Given the description of an element on the screen output the (x, y) to click on. 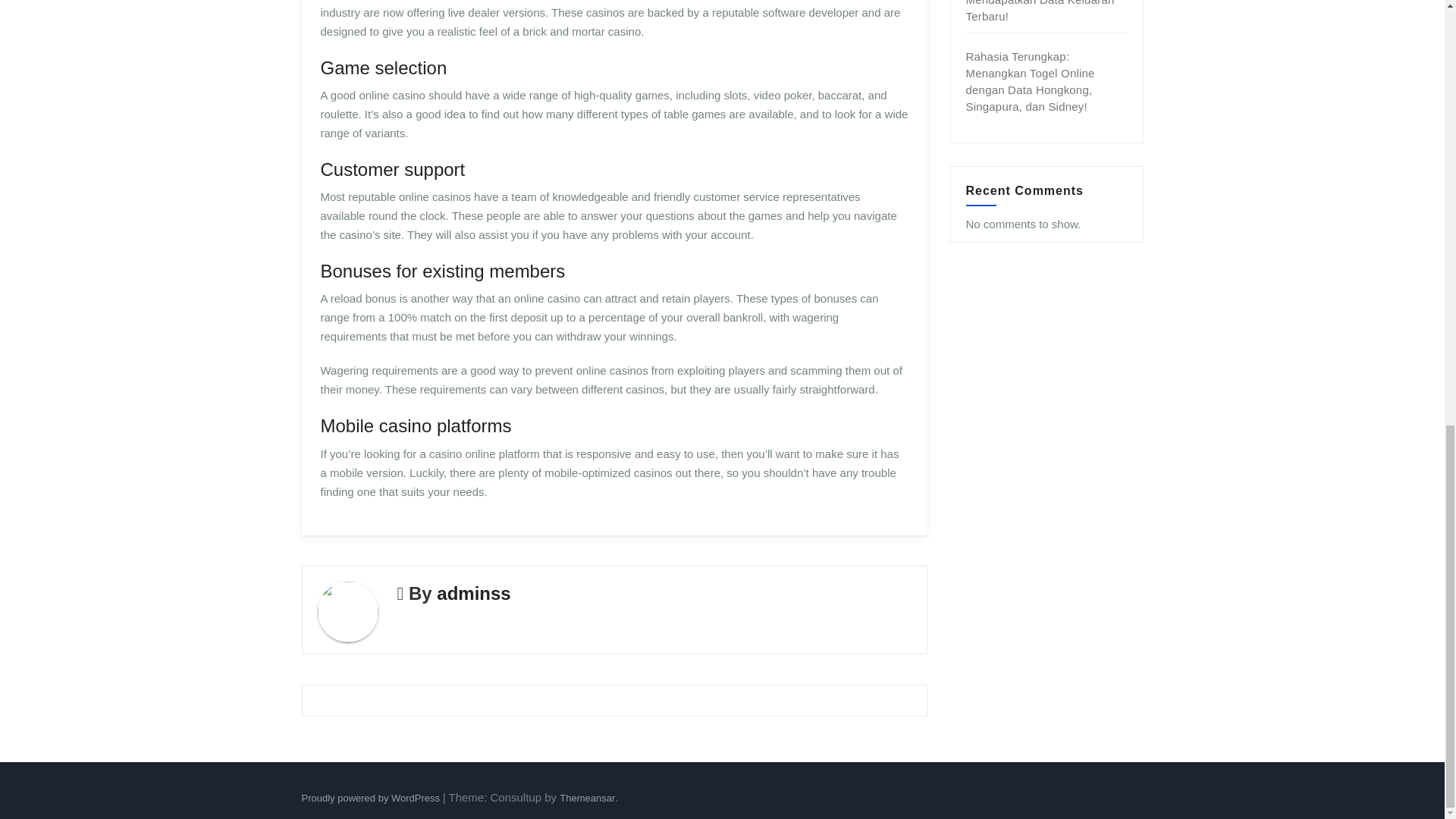
adminss (473, 593)
Themeansar (586, 797)
Proudly powered by WordPress (371, 797)
